Given the description of an element on the screen output the (x, y) to click on. 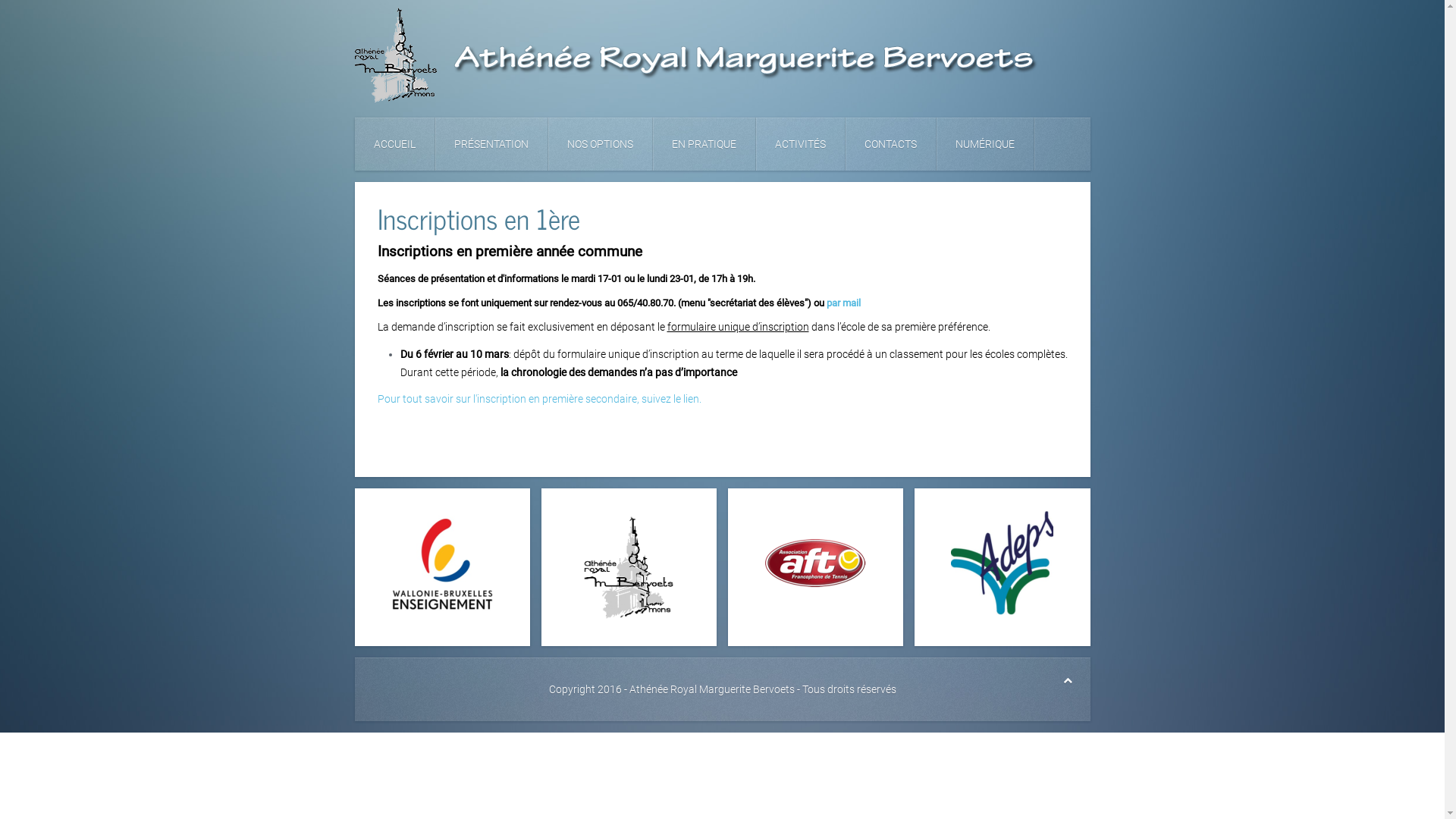
ACCUEIL Element type: text (394, 143)
par mail Element type: text (843, 302)
NOS OPTIONS Element type: text (599, 143)
EN PRATIQUE Element type: text (703, 143)
CONTACTS Element type: text (889, 143)
